Given the description of an element on the screen output the (x, y) to click on. 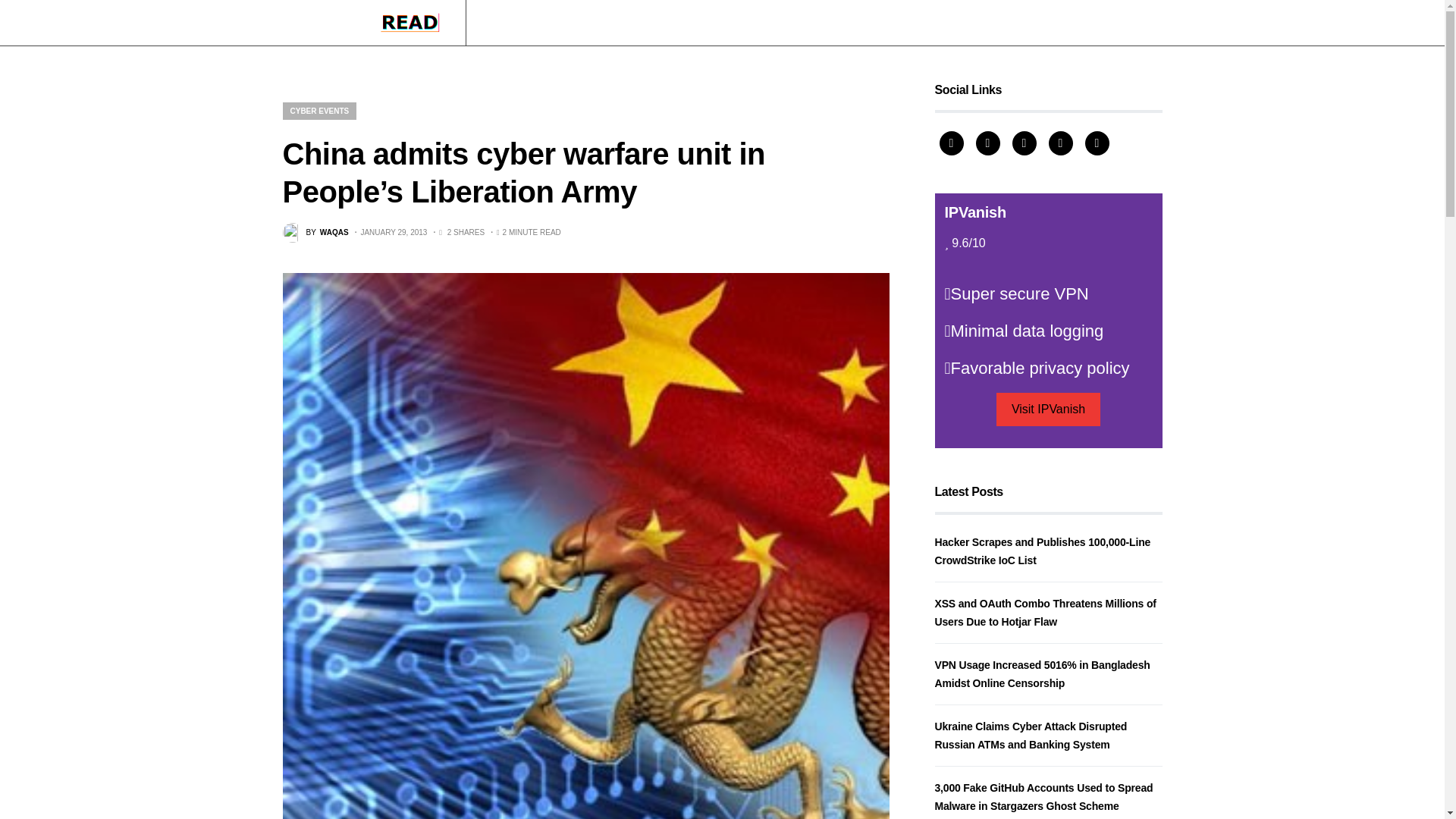
Hacking News (518, 22)
View all posts by Waqas (314, 232)
Technology (597, 22)
